Given the description of an element on the screen output the (x, y) to click on. 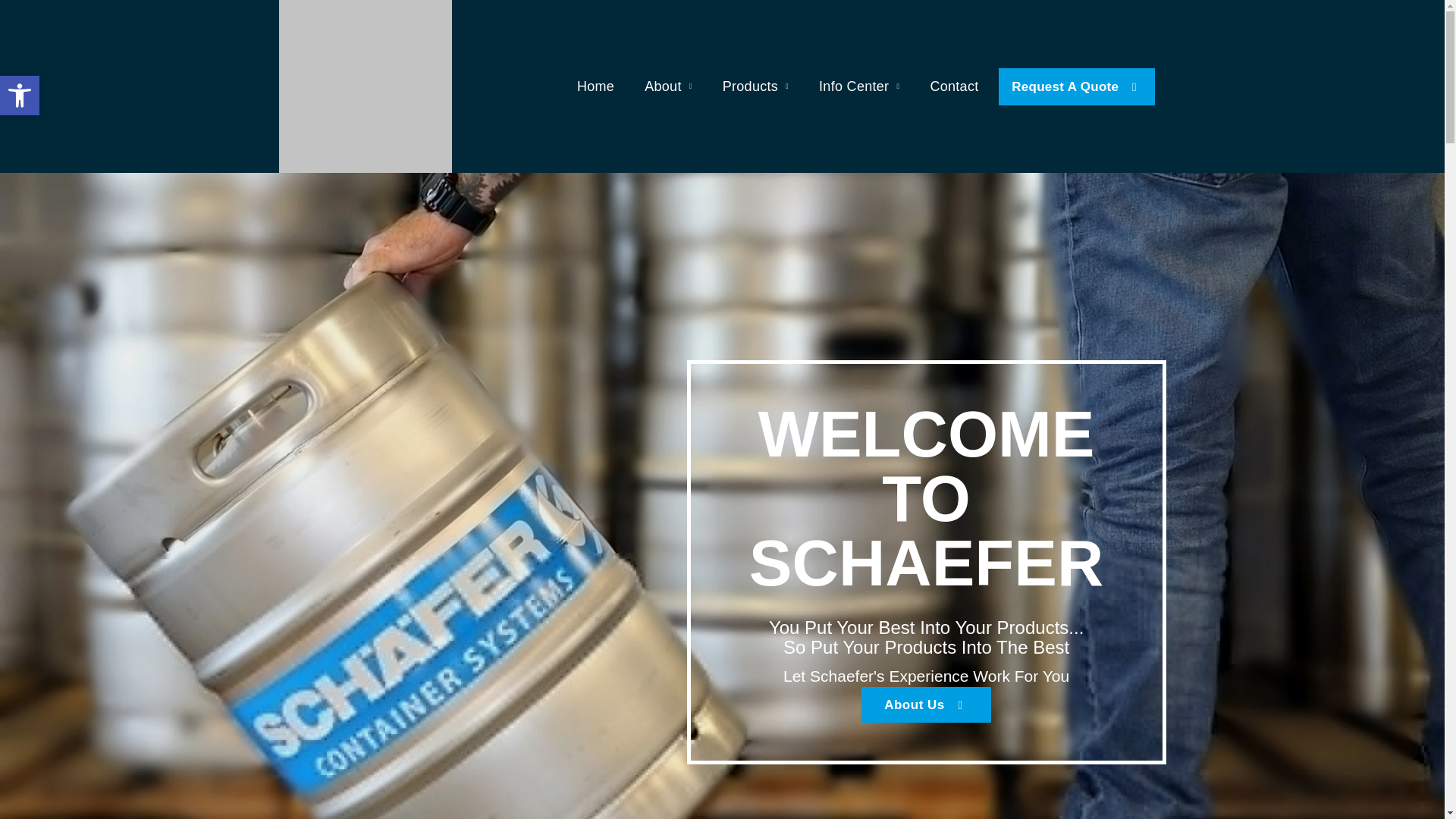
Info Center (858, 86)
About (667, 86)
Accessibility Tools (19, 95)
Home (595, 86)
Open toolbar (19, 95)
Products (755, 86)
